Given the description of an element on the screen output the (x, y) to click on. 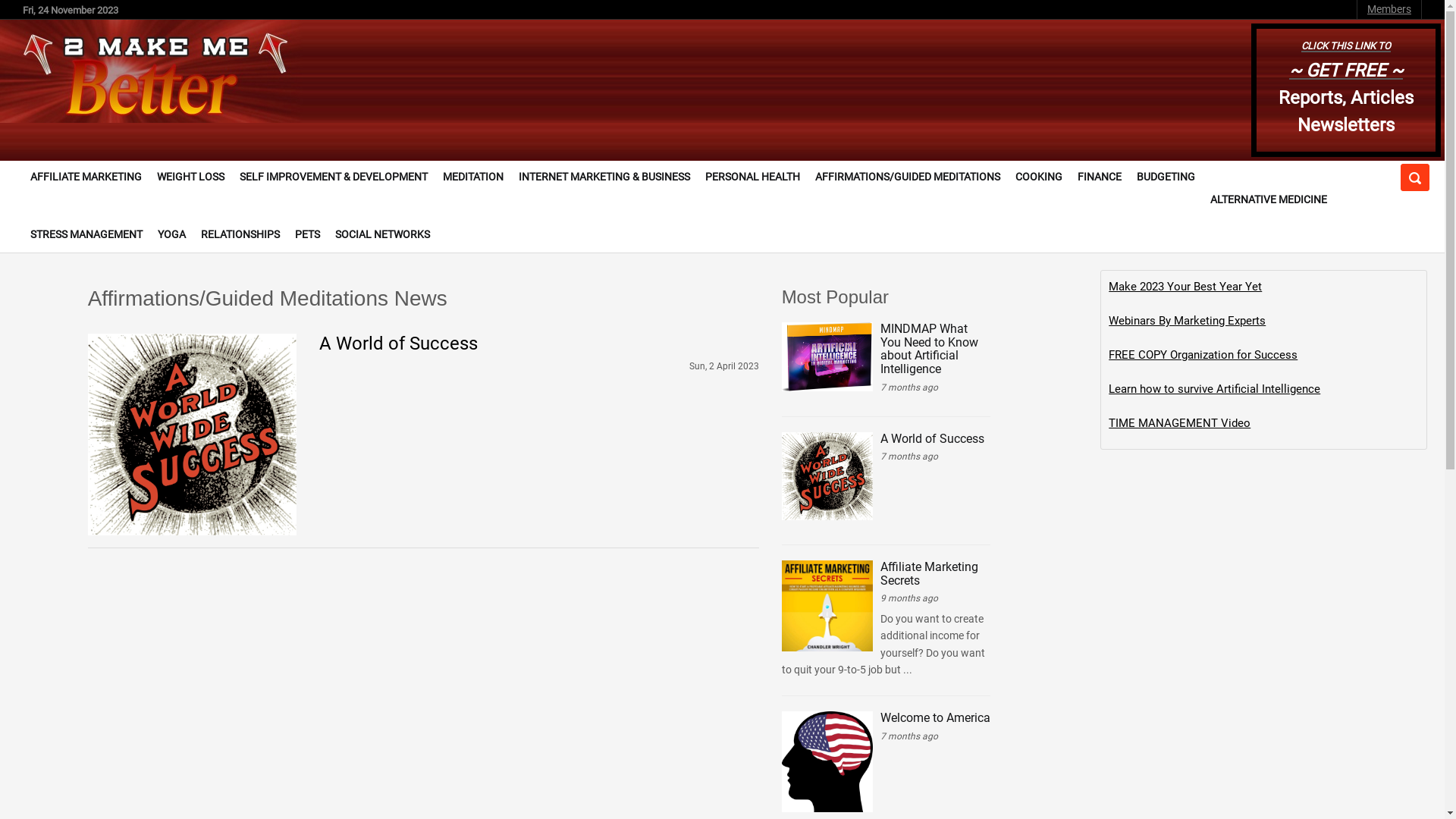
SOCIAL NETWORKS Element type: text (382, 234)
WEIGHT LOSS Element type: text (190, 177)
Members Element type: text (1388, 9)
FINANCE Element type: text (1099, 177)
MINDMAP What You Need to Know about Artificial Intelligence Element type: text (929, 348)
Welcome to America Element type: text (935, 717)
MEDITATION Element type: text (473, 177)
Make 2023 Your Best Year Yet Element type: text (1184, 286)
PETS Element type: text (307, 234)
ALTERNATIVE MEDICINE Element type: text (1268, 200)
AFFILIATE MARKETING Element type: text (85, 177)
INTERNET MARKETING & BUSINESS Element type: text (604, 177)
A World of Success Element type: text (398, 343)
RELATIONSHIPS Element type: text (240, 234)
STRESS MANAGEMENT Element type: text (86, 234)
Reports, Articles
Newsletters Element type: text (1345, 111)
TIME MANAGEMENT Video Element type: text (1179, 422)
Webinars By Marketing Experts Element type: text (1186, 320)
CLICK THIS LINK TO
~ GET FREE ~ Element type: text (1345, 56)
COOKING Element type: text (1038, 177)
Affiliate Marketing Secrets Element type: text (929, 573)
FREE COPY Organization for Success Element type: text (1202, 354)
AFFIRMATIONS/GUIDED MEDITATIONS Element type: text (907, 177)
A World of Success Element type: text (932, 438)
PERSONAL HEALTH Element type: text (752, 177)
YOGA Element type: text (171, 234)
SELF IMPROVEMENT & DEVELOPMENT Element type: text (333, 177)
Learn how to survive Artificial Intelligence Element type: text (1214, 388)
BUDGETING Element type: text (1165, 177)
